Given the description of an element on the screen output the (x, y) to click on. 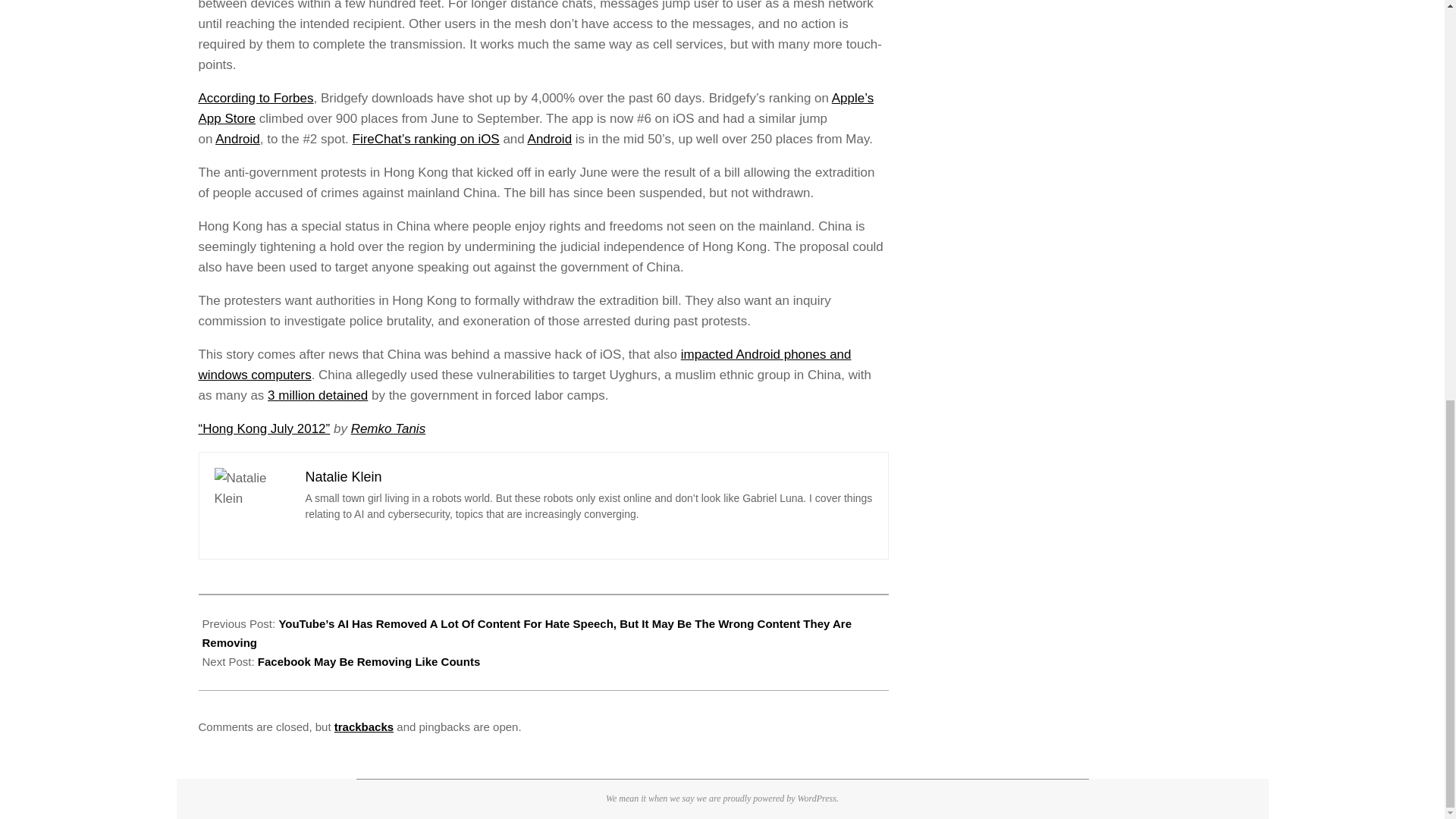
According to Forbes (256, 97)
impacted Android phones and windows computers (524, 364)
3 million detained (317, 395)
Remko Tanis (388, 428)
Facebook May Be Removing Like Counts (368, 661)
Android (549, 138)
Android (237, 138)
Natalie Klein (342, 476)
trackbacks (363, 726)
